Given the description of an element on the screen output the (x, y) to click on. 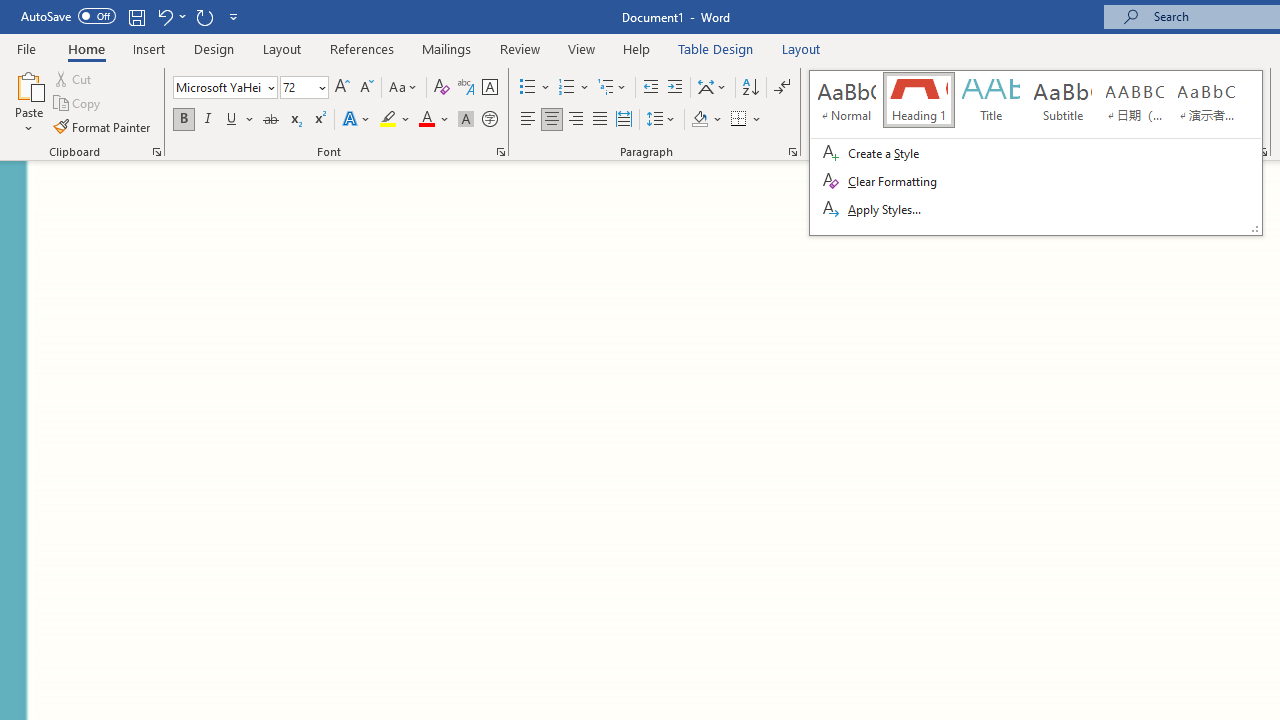
Line and Paragraph Spacing (661, 119)
Font Color (434, 119)
Shading (706, 119)
Character Border (489, 87)
Paragraph... (792, 151)
Align Left (527, 119)
Class: Net UI Tool Window (1035, 152)
